Given the description of an element on the screen output the (x, y) to click on. 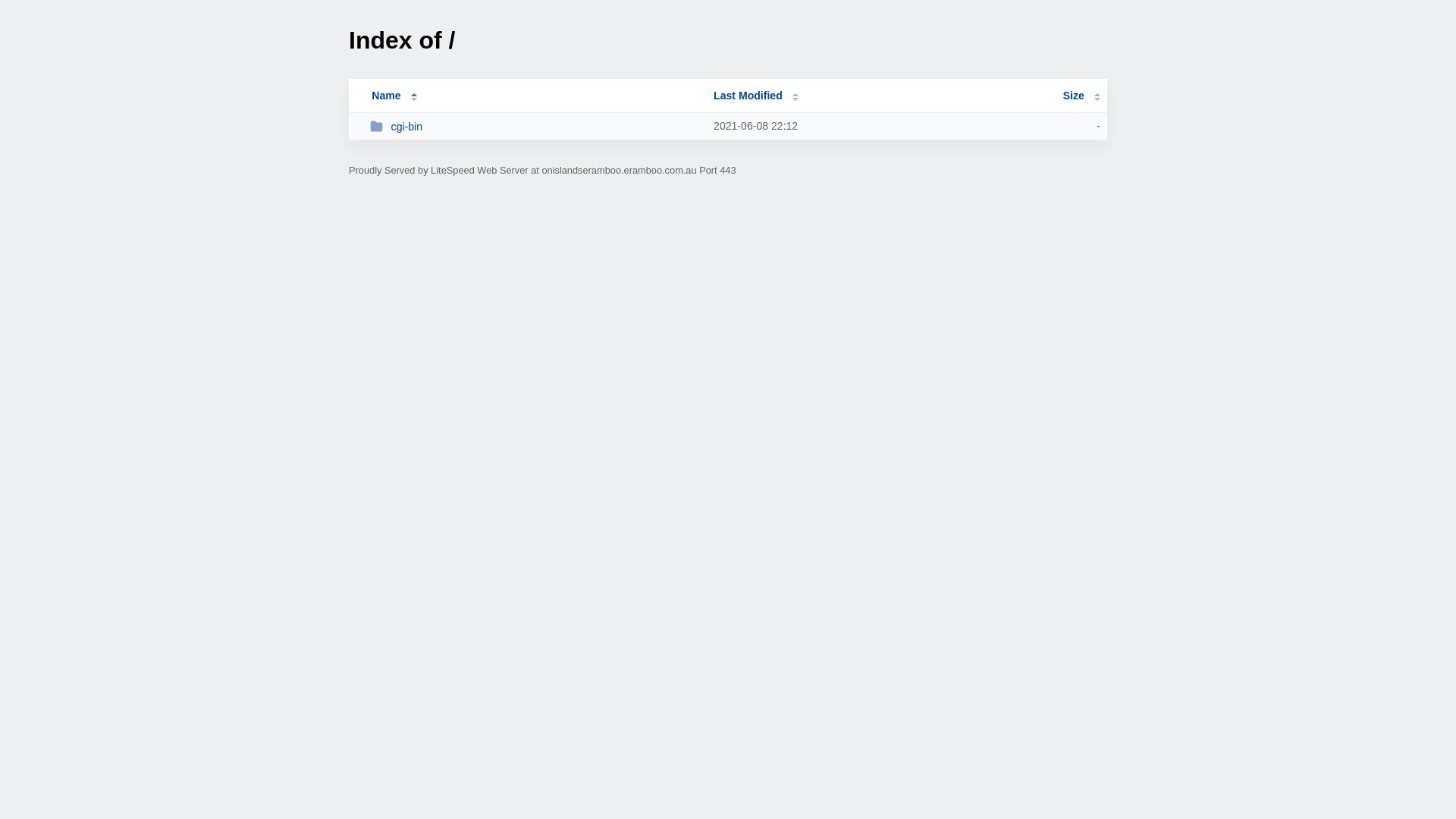
Last Modified Element type: text (755, 95)
Name Element type: text (385, 95)
Size Element type: text (1081, 95)
cgi-bin Element type: text (534, 125)
